Given the description of an element on the screen output the (x, y) to click on. 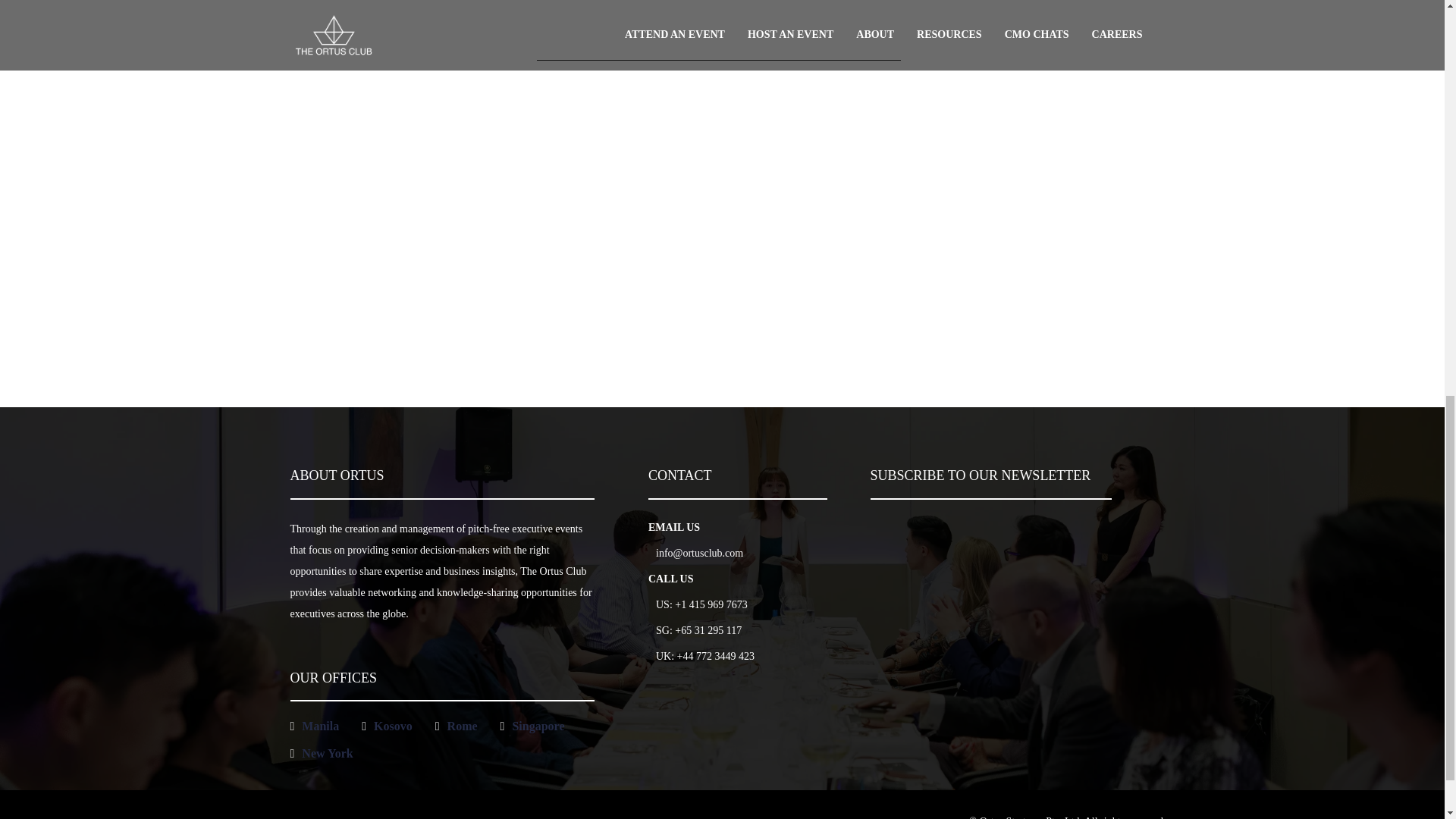
Manila (320, 726)
Singapore (538, 726)
Explore our virtual events (532, 210)
Kosovo (393, 726)
New York (326, 753)
Rome (461, 726)
Explore our in-person events (911, 210)
